Given the description of an element on the screen output the (x, y) to click on. 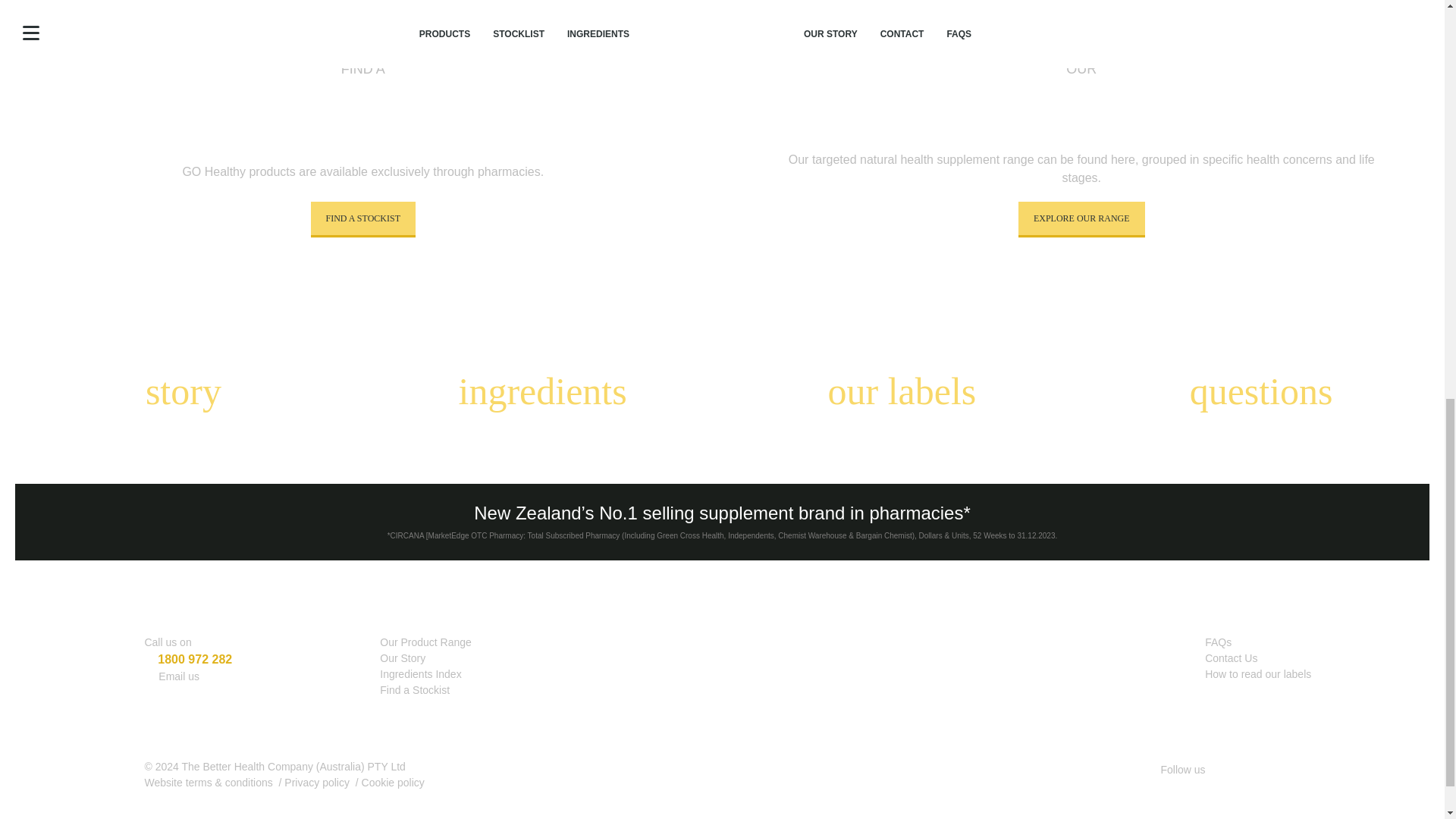
1800 972 282 (194, 658)
Our Product Range (425, 642)
Email us (178, 676)
